Given the description of an element on the screen output the (x, y) to click on. 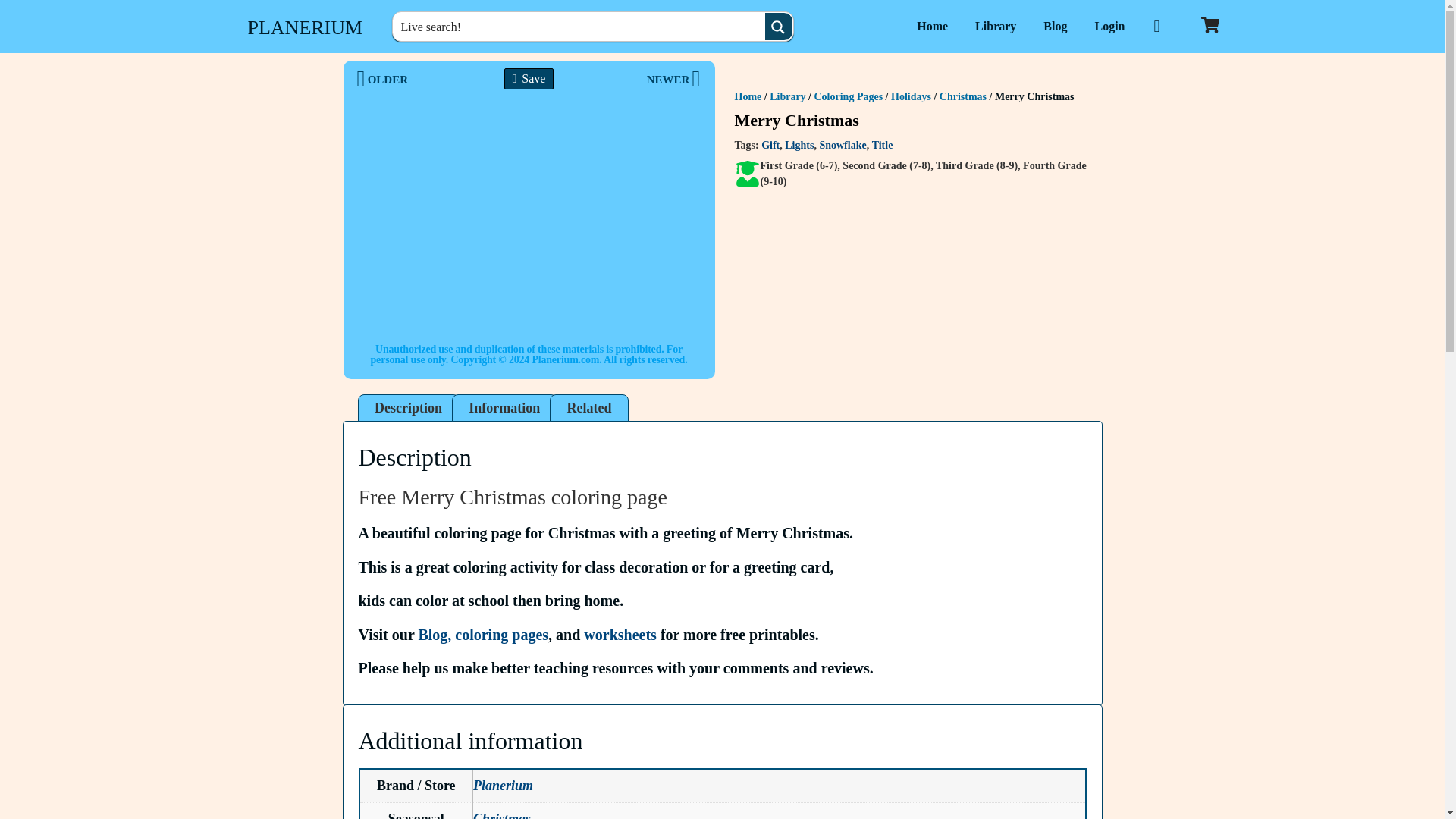
Lights (798, 144)
Christmas (963, 96)
Save to Private Library (528, 78)
Information (504, 407)
Blog Posts (1054, 26)
Planerium (502, 785)
Login (1109, 26)
PLANERIUM (304, 27)
Save (528, 78)
Library (994, 26)
Holidays (911, 96)
Christmas (502, 815)
coloring pages (501, 634)
Coloring Pages (848, 96)
Related (588, 407)
